Given the description of an element on the screen output the (x, y) to click on. 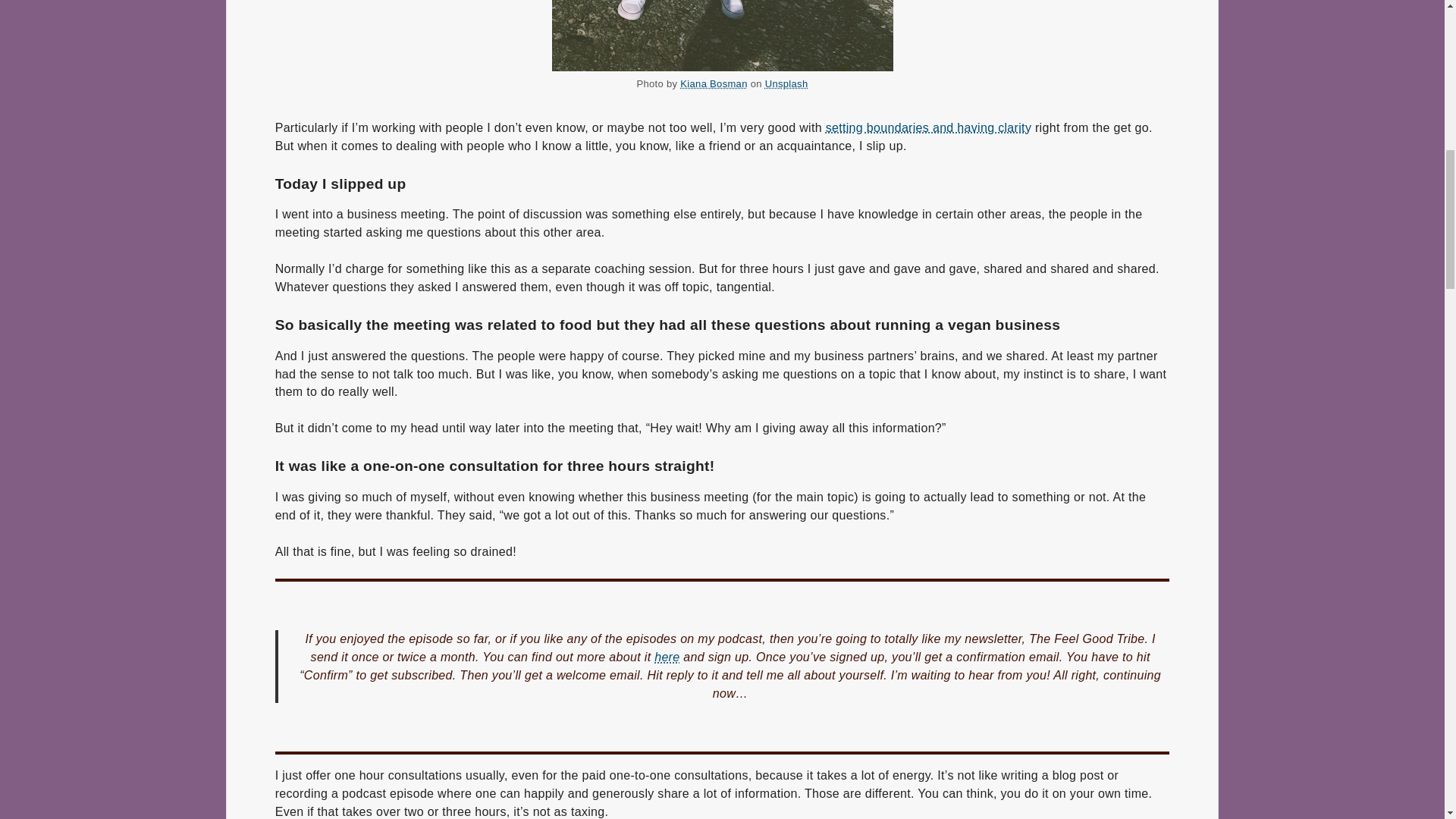
Unsplash (786, 83)
setting boundaries and having clarity (928, 128)
here (666, 657)
Kiana Bosman (712, 83)
